Given the description of an element on the screen output the (x, y) to click on. 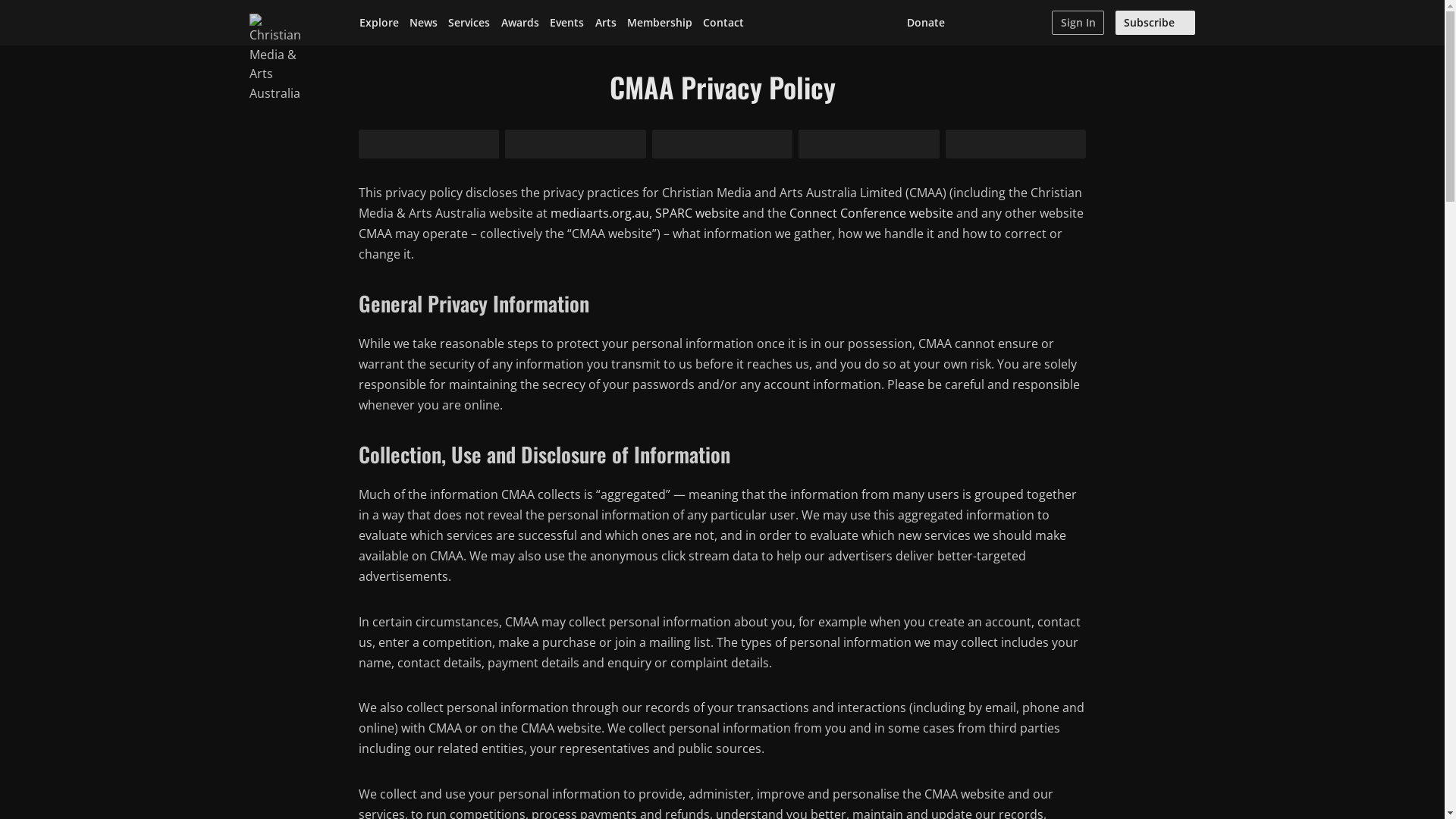
News Element type: text (422, 22)
Services Element type: text (468, 22)
Share on Facebook Element type: hover (575, 143)
Awards Element type: text (519, 22)
Events Element type: text (566, 22)
Share on Linkedin Element type: hover (722, 143)
Copy to clipboard Element type: hover (1015, 143)
Connect Conference website Element type: text (870, 212)
Donate Element type: text (925, 22)
mediaarts.org.au Element type: text (599, 212)
Sign In Element type: text (1077, 22)
Explore Element type: text (378, 22)
Subscribe Element type: text (1155, 22)
Search Element type: hover (1034, 22)
Membership Element type: text (659, 22)
Arts Element type: text (605, 22)
Share on Twitter Element type: hover (427, 143)
Contact Element type: text (723, 22)
Share by email Element type: hover (868, 143)
SPARC website Element type: text (697, 212)
